Given the description of an element on the screen output the (x, y) to click on. 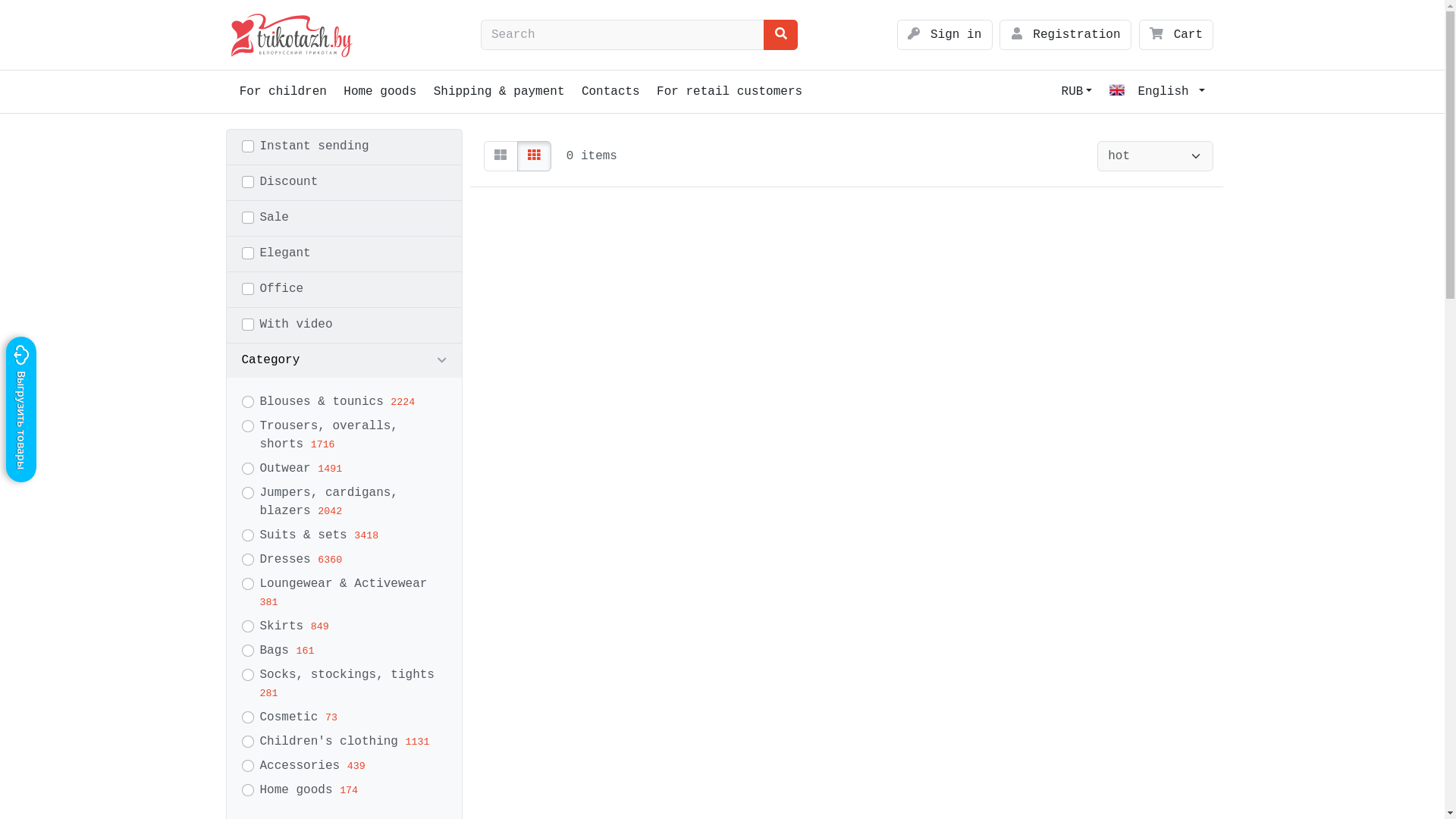
English Element type: text (1157, 91)
For children Element type: text (282, 91)
Shipping & payment Element type: text (498, 91)
RUB Element type: text (1076, 91)
Registration Element type: text (1065, 34)
For retail customers Element type: text (729, 91)
Home goods Element type: text (379, 91)
Contacts Element type: text (610, 91)
Sign in Element type: text (944, 34)
